Given the description of an element on the screen output the (x, y) to click on. 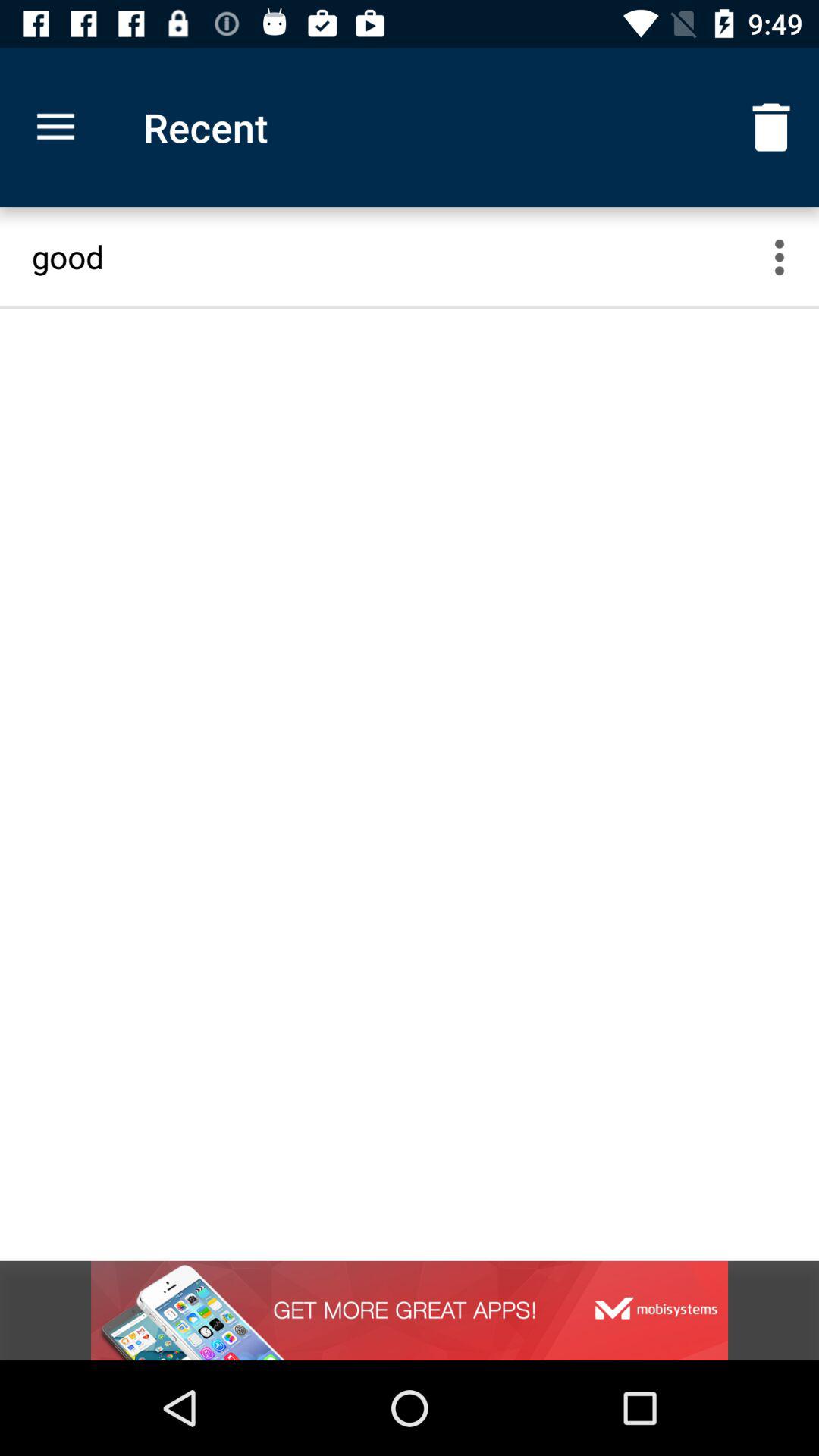
press good item (395, 256)
